Given the description of an element on the screen output the (x, y) to click on. 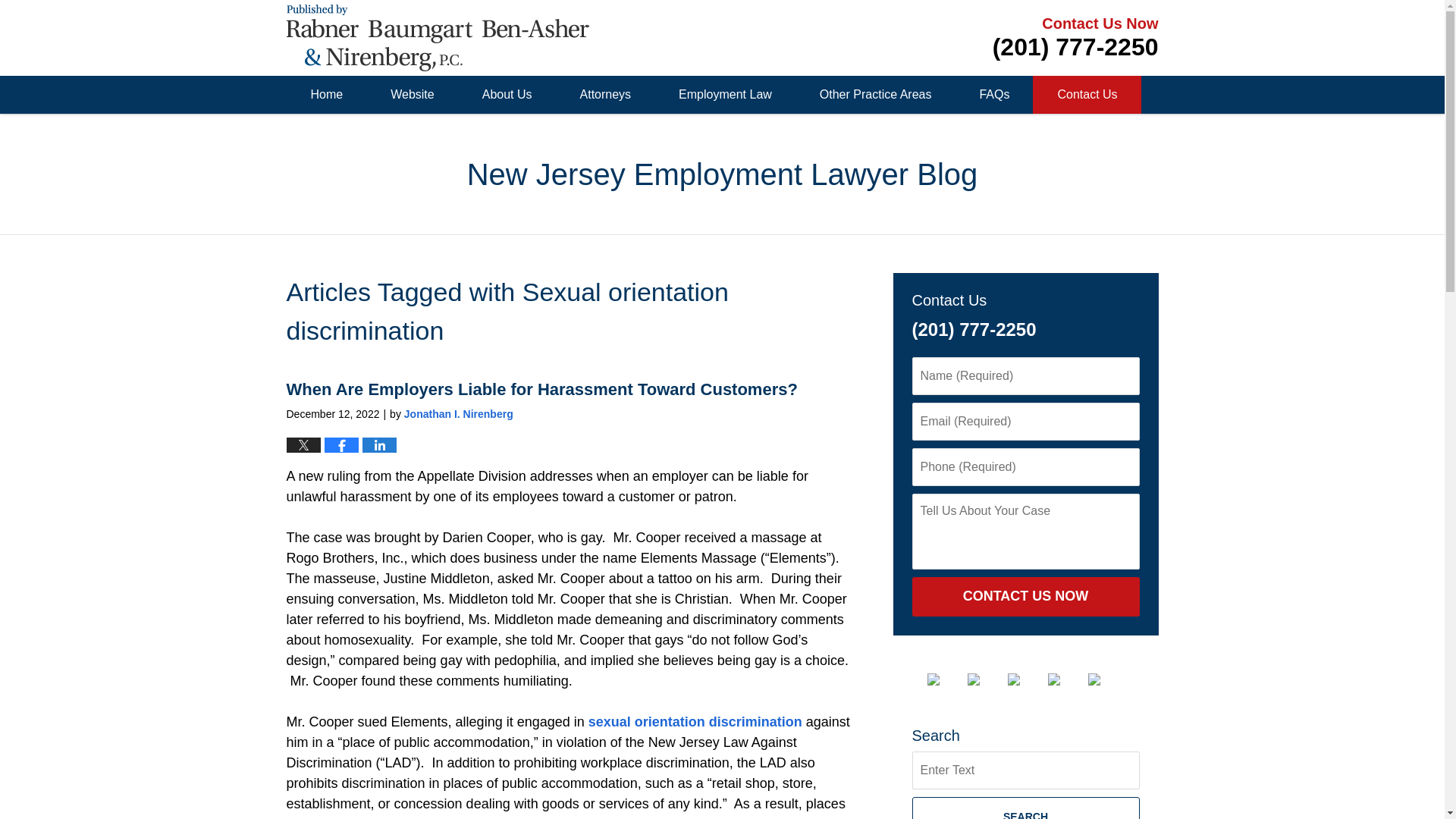
Website (412, 94)
sexual orientation discrimination (695, 721)
When Are Employers Liable for Harassment Toward Customers? (541, 389)
Employment Law (723, 94)
Attorneys (605, 94)
Home (326, 94)
About Us (507, 94)
Jonathan I. Nirenberg (458, 413)
New Jersey Employment Lawyer Blog (437, 37)
